Given the description of an element on the screen output the (x, y) to click on. 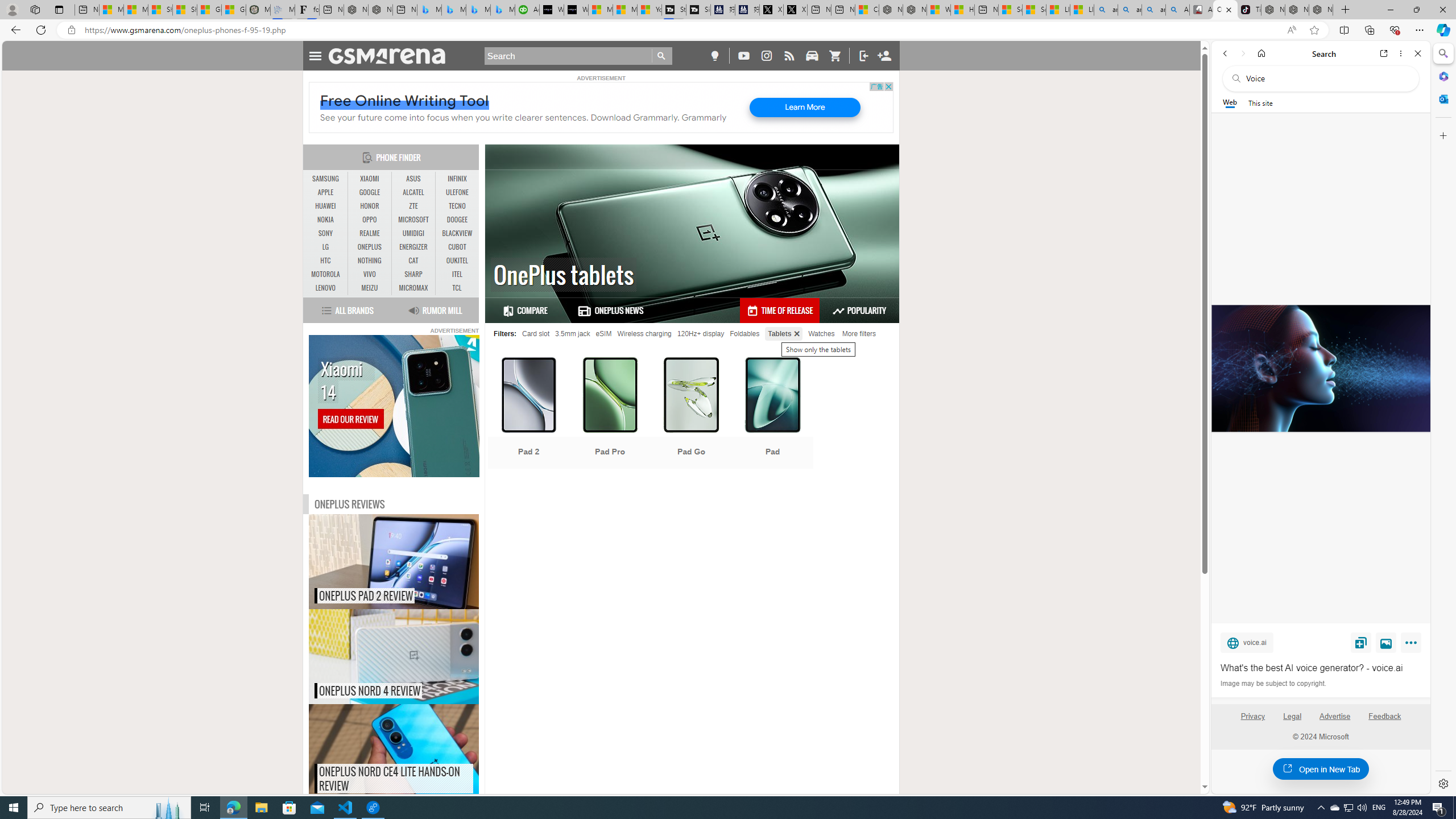
HONOR (369, 205)
Pad Pro (609, 413)
ONEPLUS (369, 246)
Legal (1292, 720)
Free Online Writing Tool (404, 100)
DOOGEE (457, 219)
BLACKVIEW (457, 233)
Pad Go (691, 413)
